Given the description of an element on the screen output the (x, y) to click on. 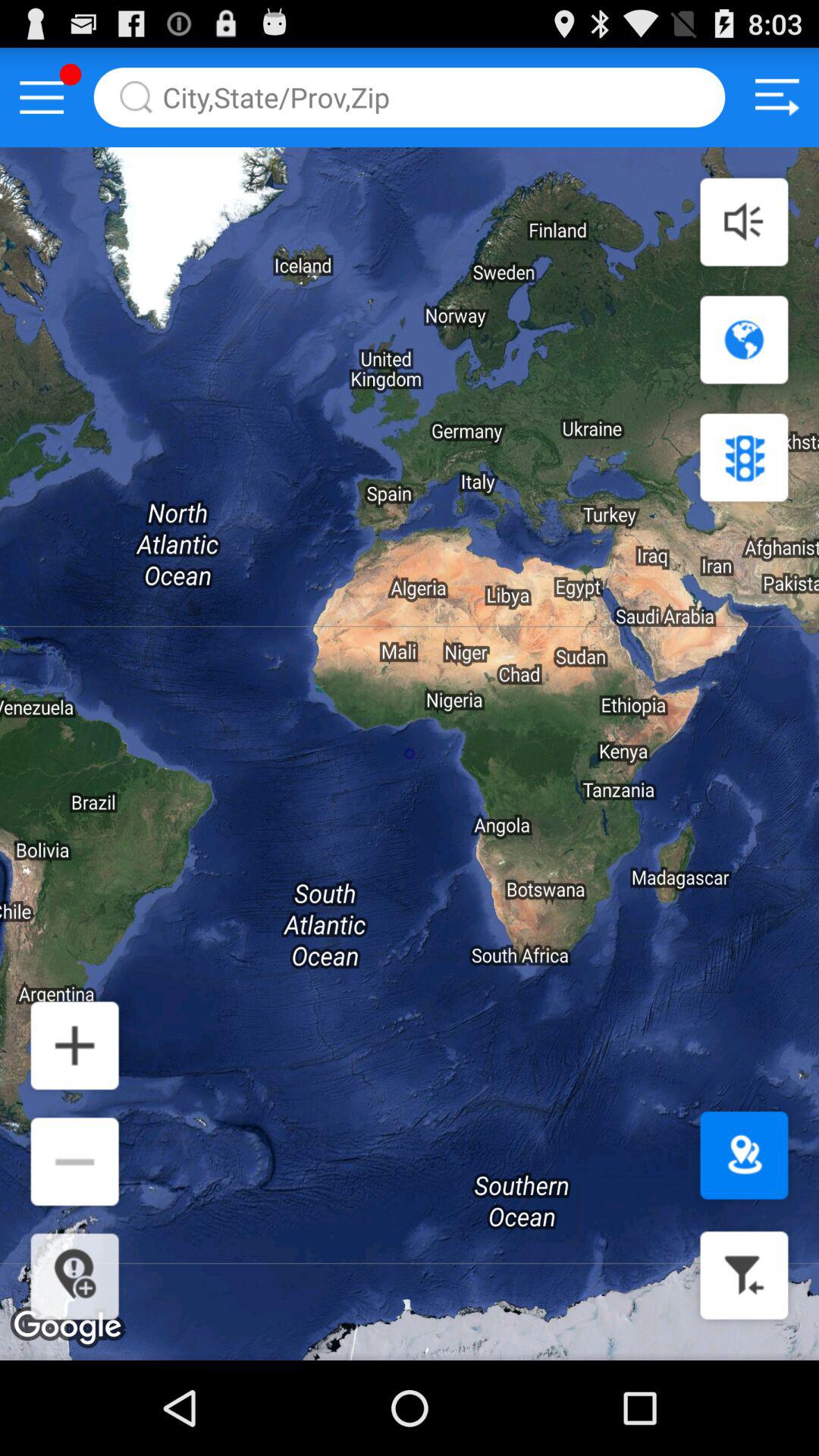
view expand menu (41, 97)
